Given the description of an element on the screen output the (x, y) to click on. 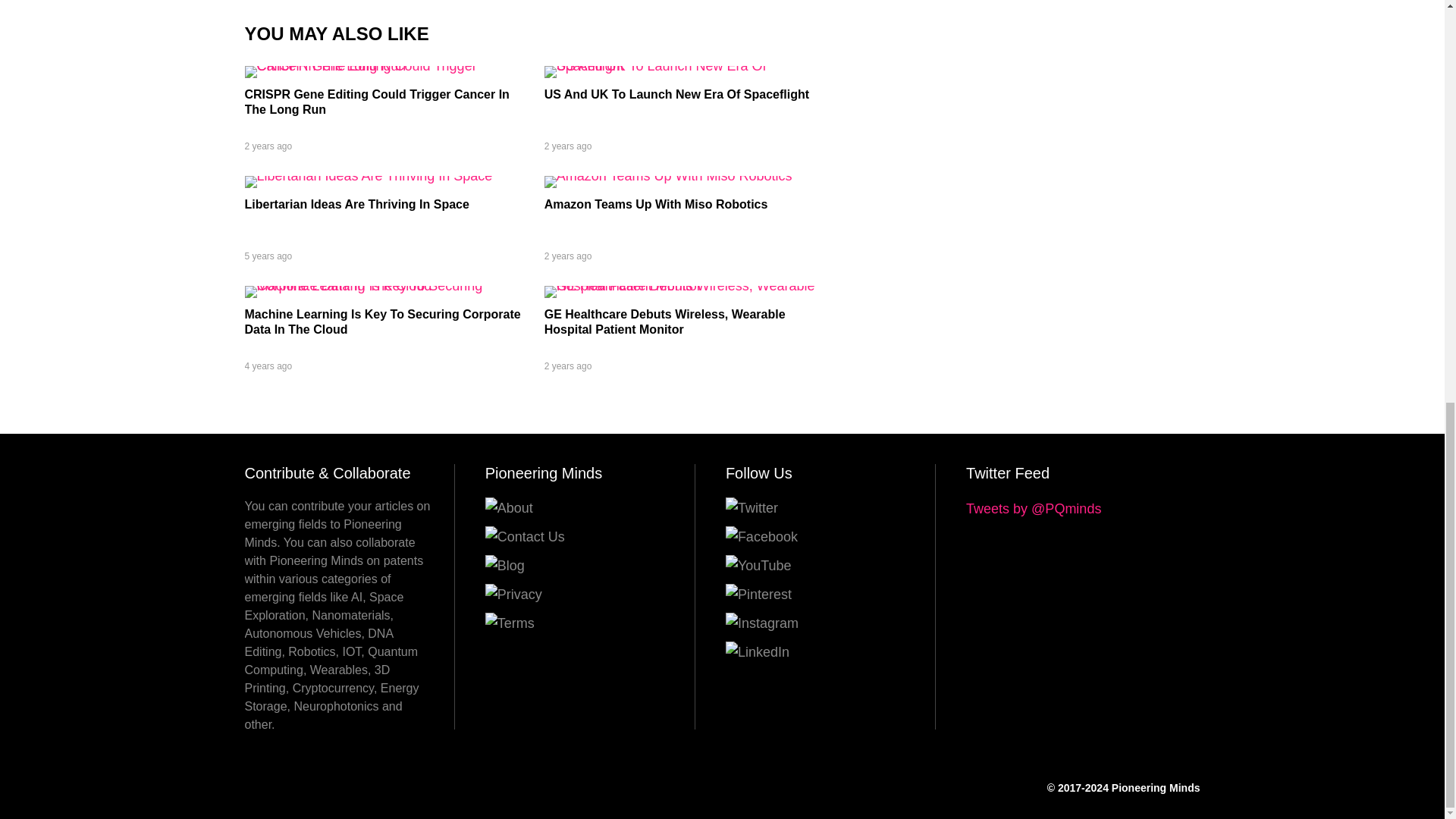
US And UK To Launch New Era Of Spaceflight (676, 93)
Amazon Teams Up With Miso Robotics (668, 175)
Libertarian Ideas Are Thriving In Space (368, 175)
Amazon Teams Up With Miso Robotics (656, 204)
Libertarian Ideas Are Thriving In Space (356, 204)
CRISPR Gene Editing Could Trigger Cancer In The Long Run (382, 65)
CRISPR Gene Editing Could Trigger Cancer In The Long Run (376, 101)
US And UK To Launch New Era Of Spaceflight (682, 65)
